Given the description of an element on the screen output the (x, y) to click on. 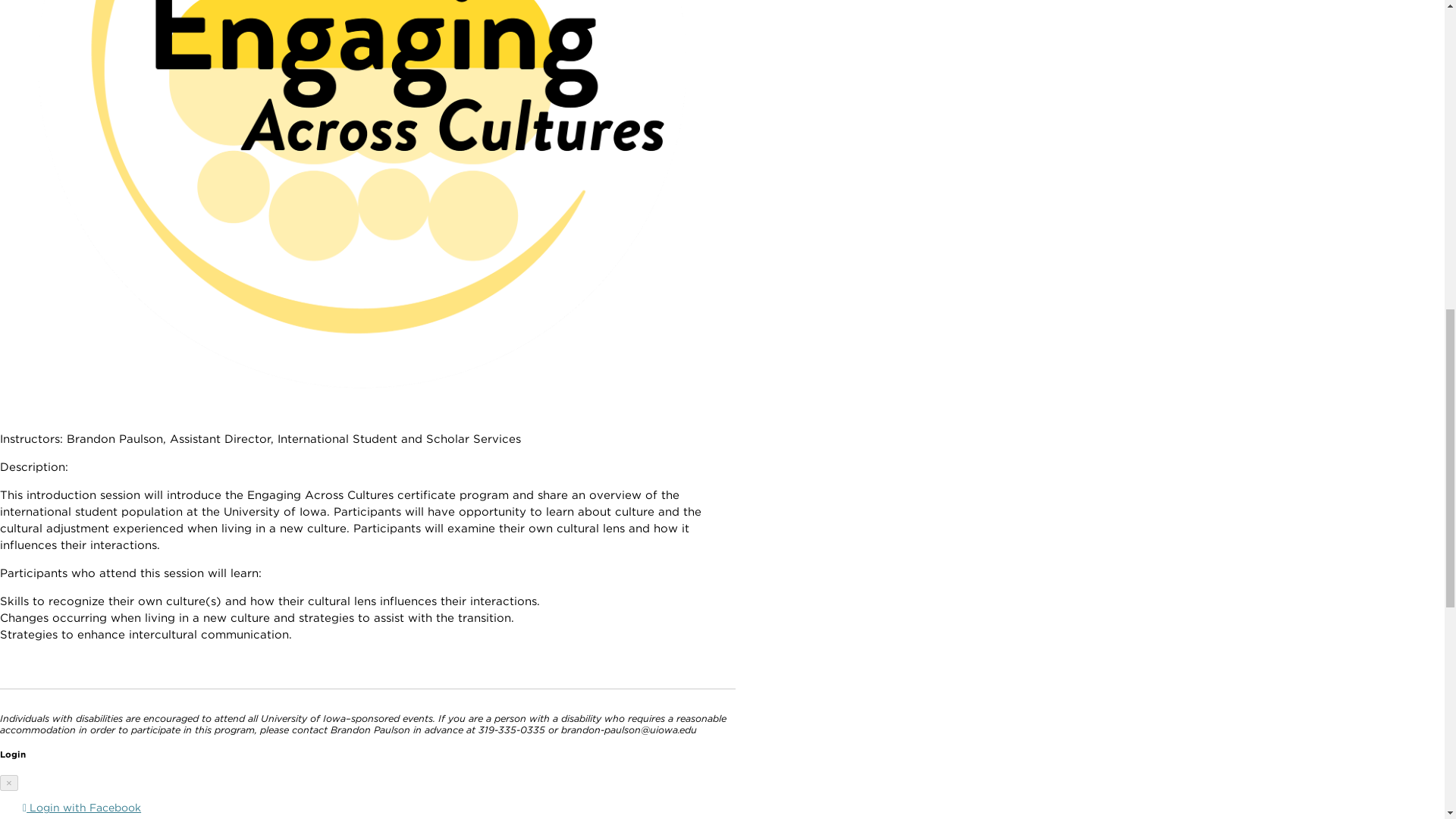
Login with Facebook (82, 807)
